Given the description of an element on the screen output the (x, y) to click on. 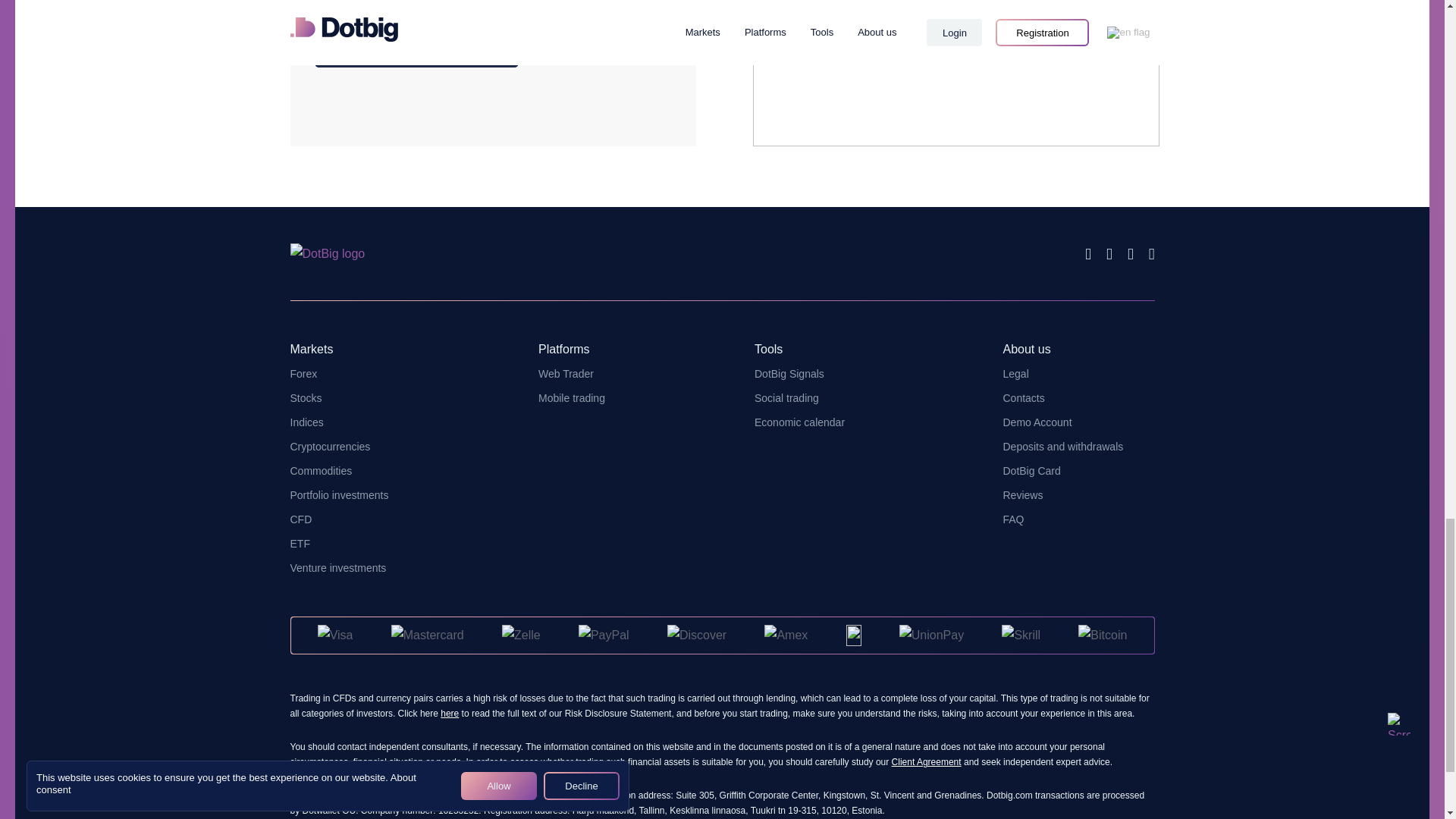
UnionPay (931, 634)
Zelle (521, 634)
PayPal (603, 634)
Register (416, 47)
Mastercard (427, 634)
Skrill (1021, 634)
Discover (696, 634)
Bitcoin (1102, 634)
Visa (335, 634)
Amex (786, 634)
